Given the description of an element on the screen output the (x, y) to click on. 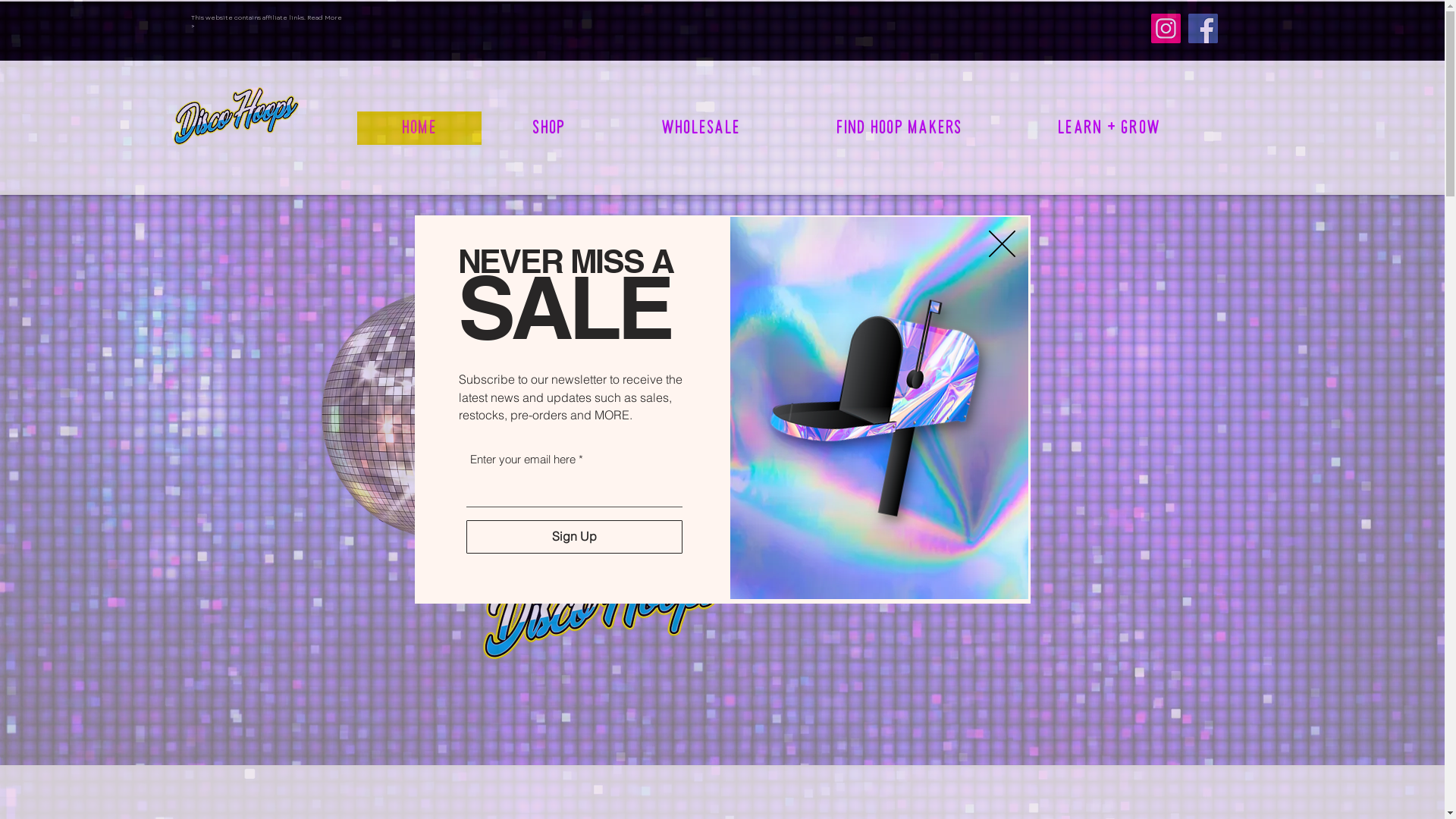
Sign Up Element type: text (573, 536)
Back to site Element type: hover (1001, 243)
LEARN + GROW Element type: text (1109, 127)
FIND HOOP MAKERS Element type: text (898, 127)
HOME Element type: text (418, 127)
WHOLESALE Element type: text (700, 127)
Read More > Element type: text (266, 21)
SHOP Element type: text (548, 127)
